Given the description of an element on the screen output the (x, y) to click on. 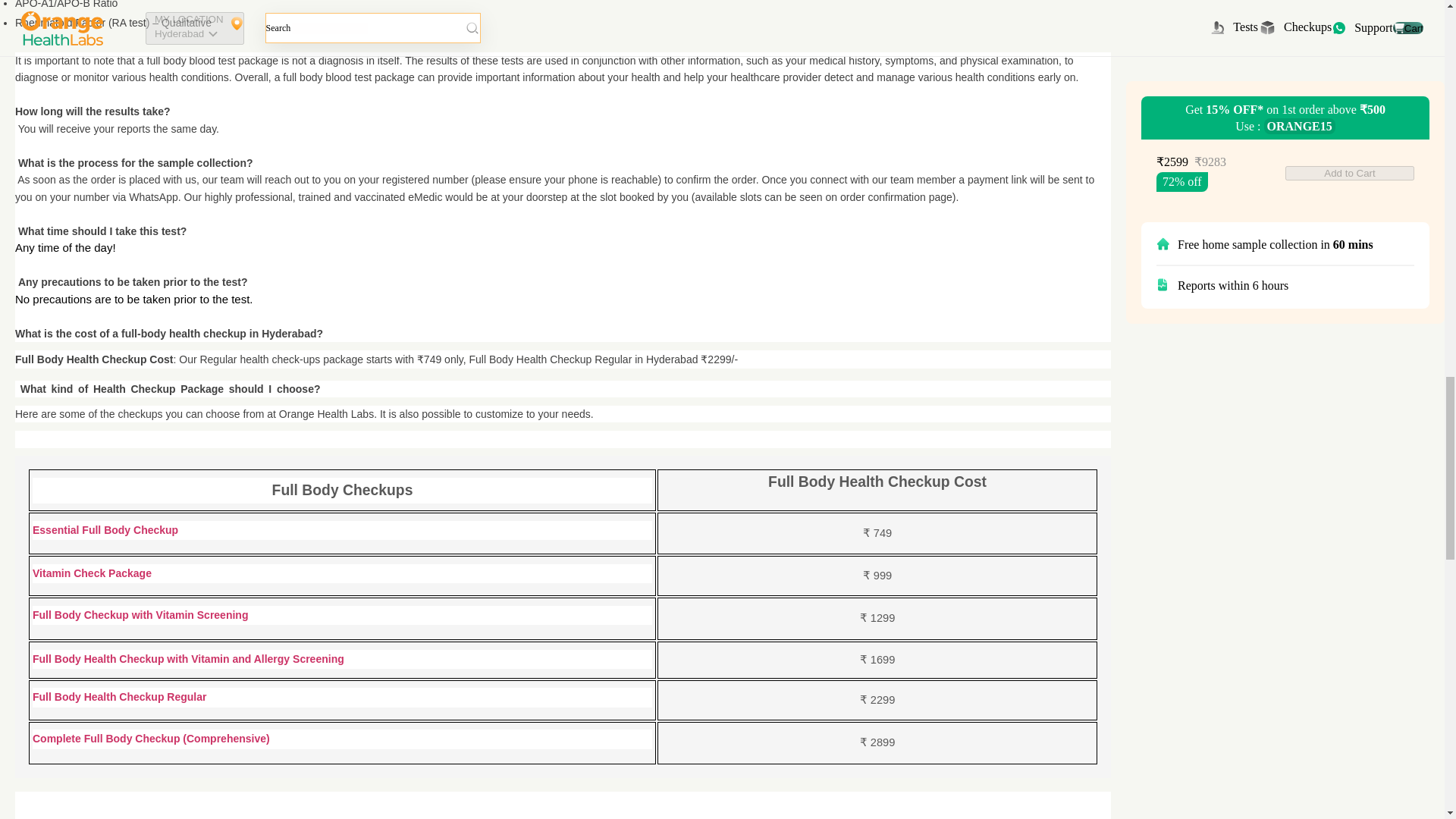
Full Body Health Checkup with Vitamin and Allergy Screening  (189, 659)
Full Body Health Checkup Cost (93, 358)
Vitamin Check Package (91, 573)
Full Body Checkup with Vitamin Screening (139, 615)
Essential Full Body Checkup (104, 530)
Full Body Health Checkup Regular (119, 697)
full body blood test package (348, 77)
full body blood test package (213, 60)
